Given the description of an element on the screen output the (x, y) to click on. 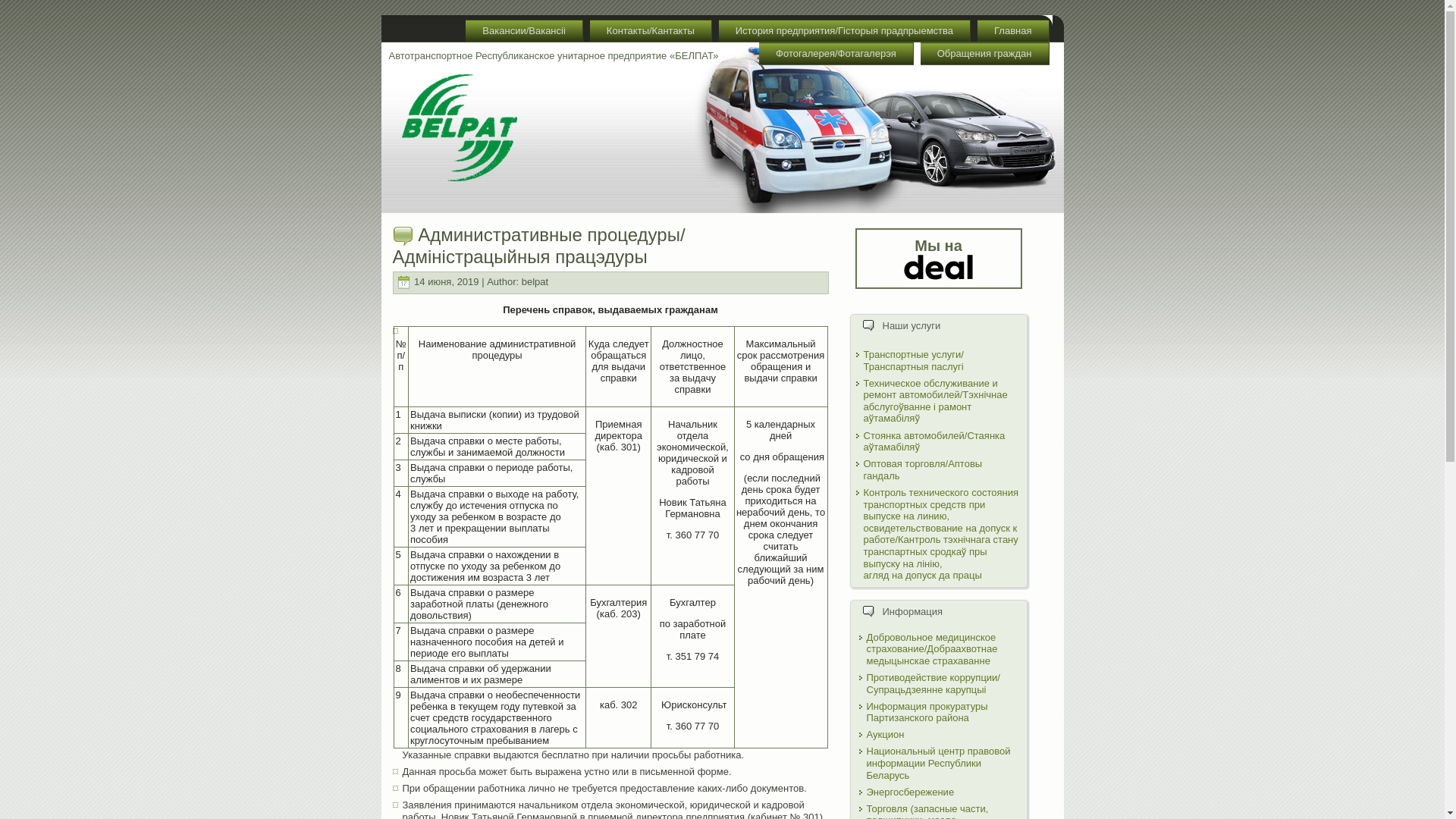
belpat Element type: text (534, 281)
